Given the description of an element on the screen output the (x, y) to click on. 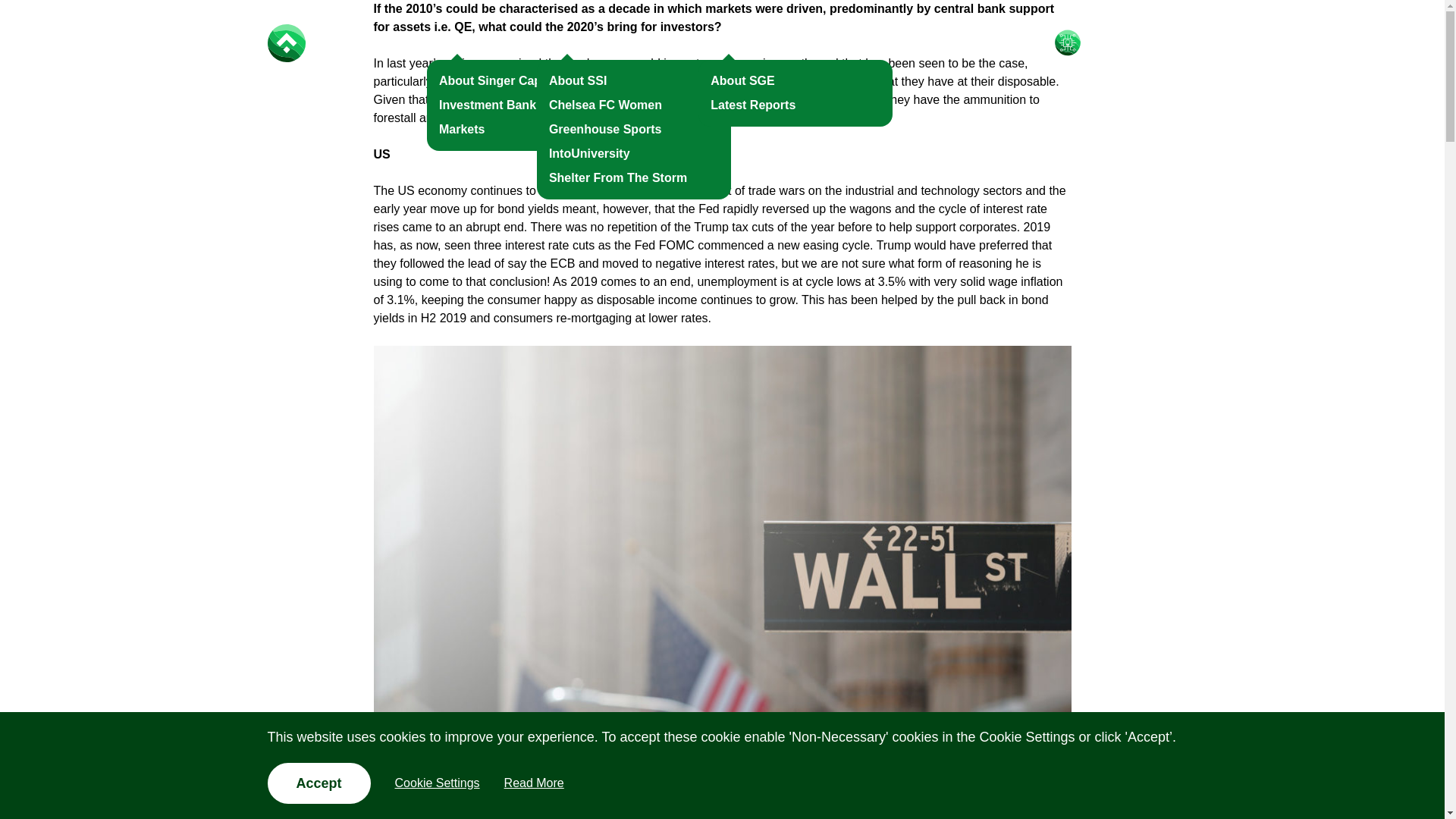
IntoUniversity (589, 153)
Markets (461, 129)
About SGE (742, 81)
Greenhouse Sports (604, 129)
What we do (466, 43)
Search (1120, 43)
About SSI (577, 81)
Insights (905, 43)
Shelter From The Storm (617, 177)
Singer Growth Economy (774, 43)
Singer Capital Markets (316, 43)
Chelsea FC Women (605, 105)
Contact us (990, 43)
Investment Banking (496, 105)
Singer Social Impact (602, 43)
